Given the description of an element on the screen output the (x, y) to click on. 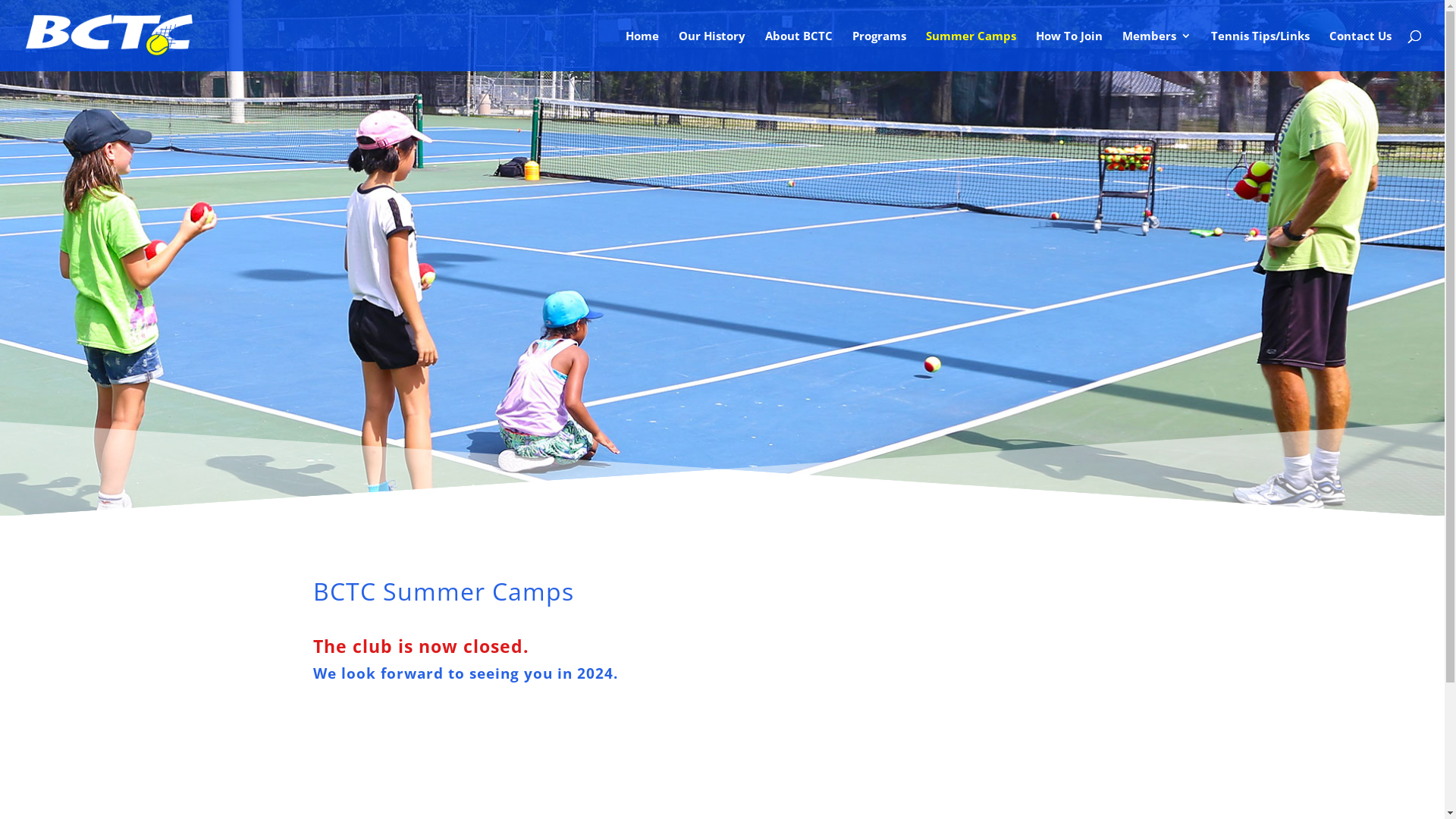
Tennis Tips/Links Element type: text (1260, 50)
Members Element type: text (1156, 50)
Contact Us Element type: text (1360, 50)
How To Join Element type: text (1068, 50)
About BCTC Element type: text (798, 50)
Programs Element type: text (879, 50)
Our History Element type: text (711, 50)
Summer Camps Element type: text (970, 50)
Home Element type: text (641, 50)
